Given the description of an element on the screen output the (x, y) to click on. 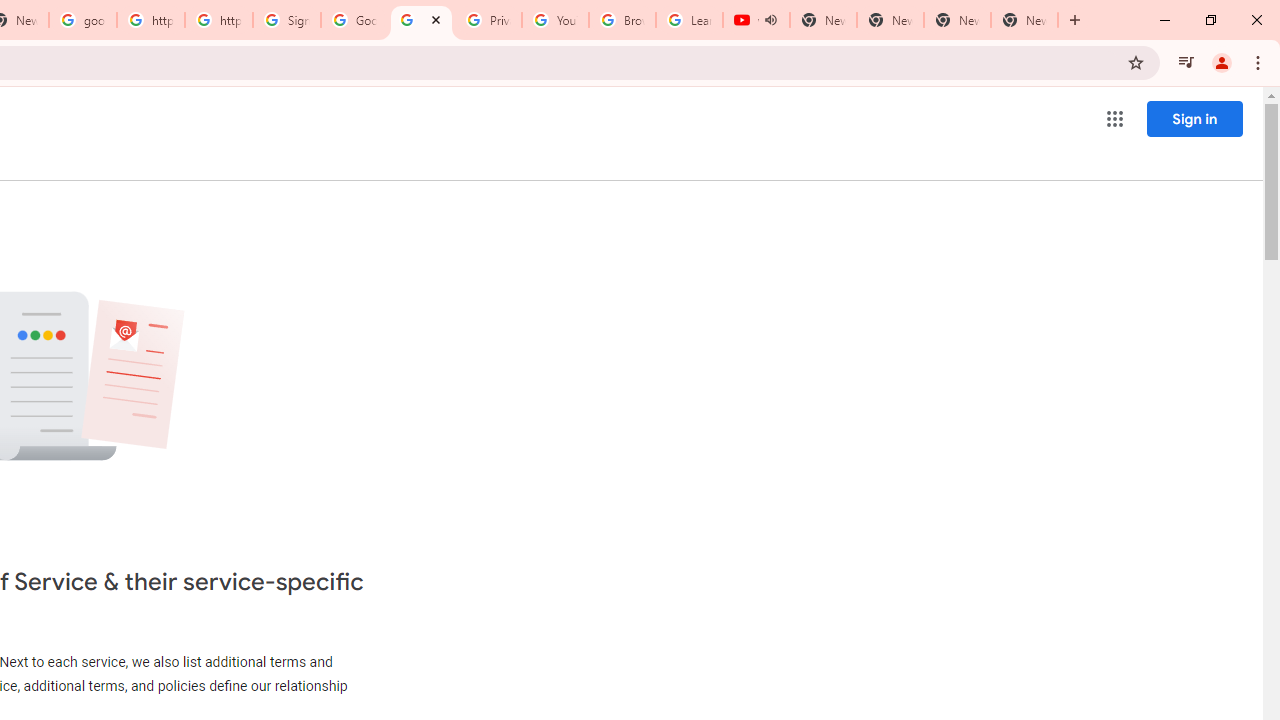
https://scholar.google.com/ (219, 20)
